Given the description of an element on the screen output the (x, y) to click on. 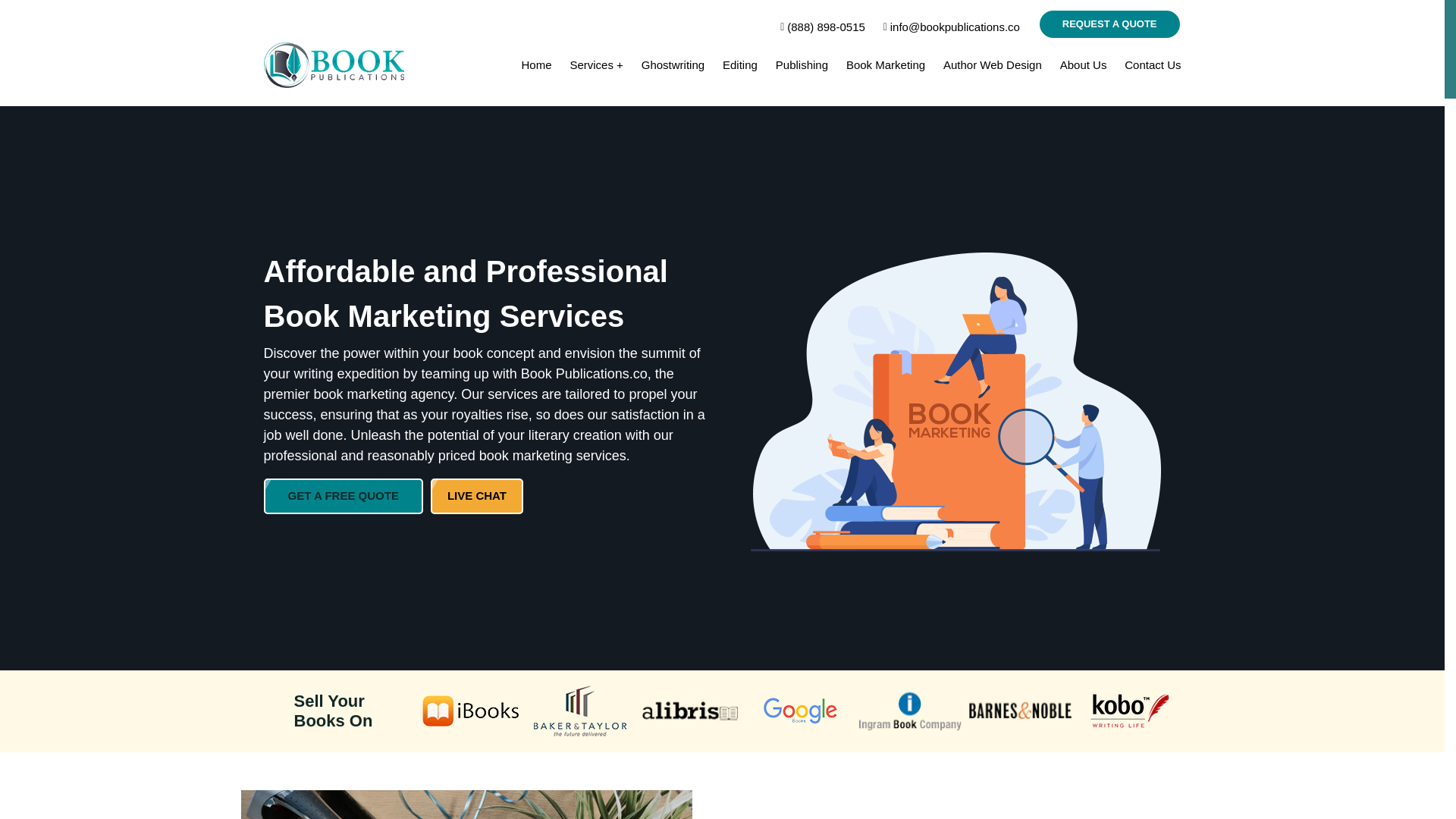
Contact Us (1152, 64)
Home (536, 64)
Editing (739, 64)
REQUEST A QUOTE (1109, 24)
GET A FREE QUOTE (343, 496)
Book Marketing (884, 64)
Publishing (802, 64)
About Us (1082, 64)
Ghostwriting (673, 64)
Author Web Design (992, 64)
